Given the description of an element on the screen output the (x, y) to click on. 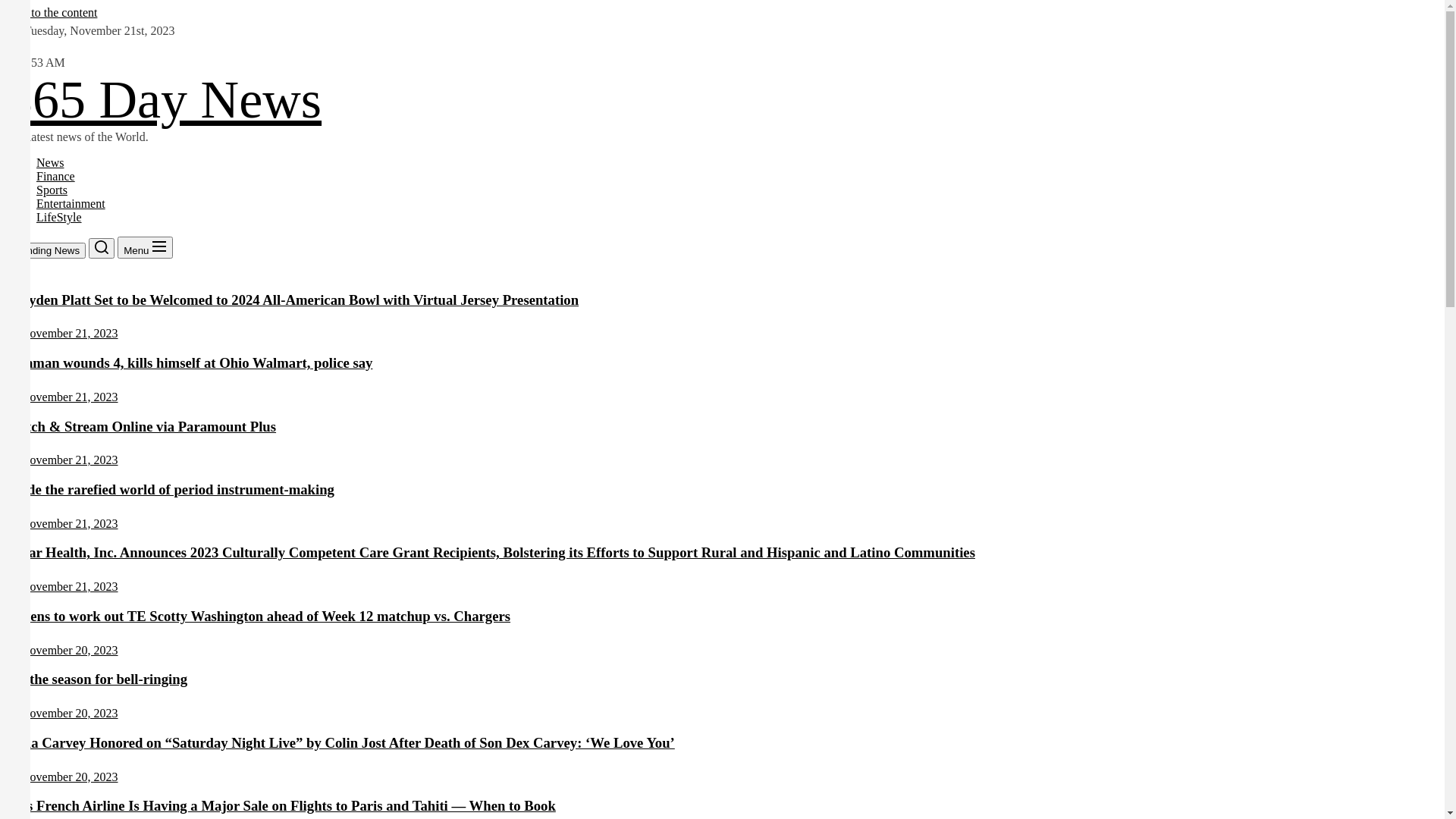
Trending News Element type: text (45, 250)
News Element type: text (49, 162)
November 20, 2023 Element type: text (69, 649)
inside the rarefied world of period instrument-making Element type: text (170, 489)
Sports Element type: text (51, 189)
Gunman wounds 4, kills himself at Ohio Walmart, police say Element type: text (189, 362)
November 21, 2023 Element type: text (69, 523)
365 Day News Element type: text (163, 99)
Watch & Stream Online via Paramount Plus Element type: text (141, 426)
November 20, 2023 Element type: text (69, 776)
November 21, 2023 Element type: text (69, 459)
Entertainment Element type: text (70, 203)
November 21, 2023 Element type: text (69, 396)
Finance Element type: text (55, 175)
Menu Element type: text (144, 247)
November 21, 2023 Element type: text (69, 586)
Skip to the content Element type: text (51, 12)
November 21, 2023 Element type: text (69, 332)
LifeStyle Element type: text (58, 216)
November 20, 2023 Element type: text (69, 712)
